Given the description of an element on the screen output the (x, y) to click on. 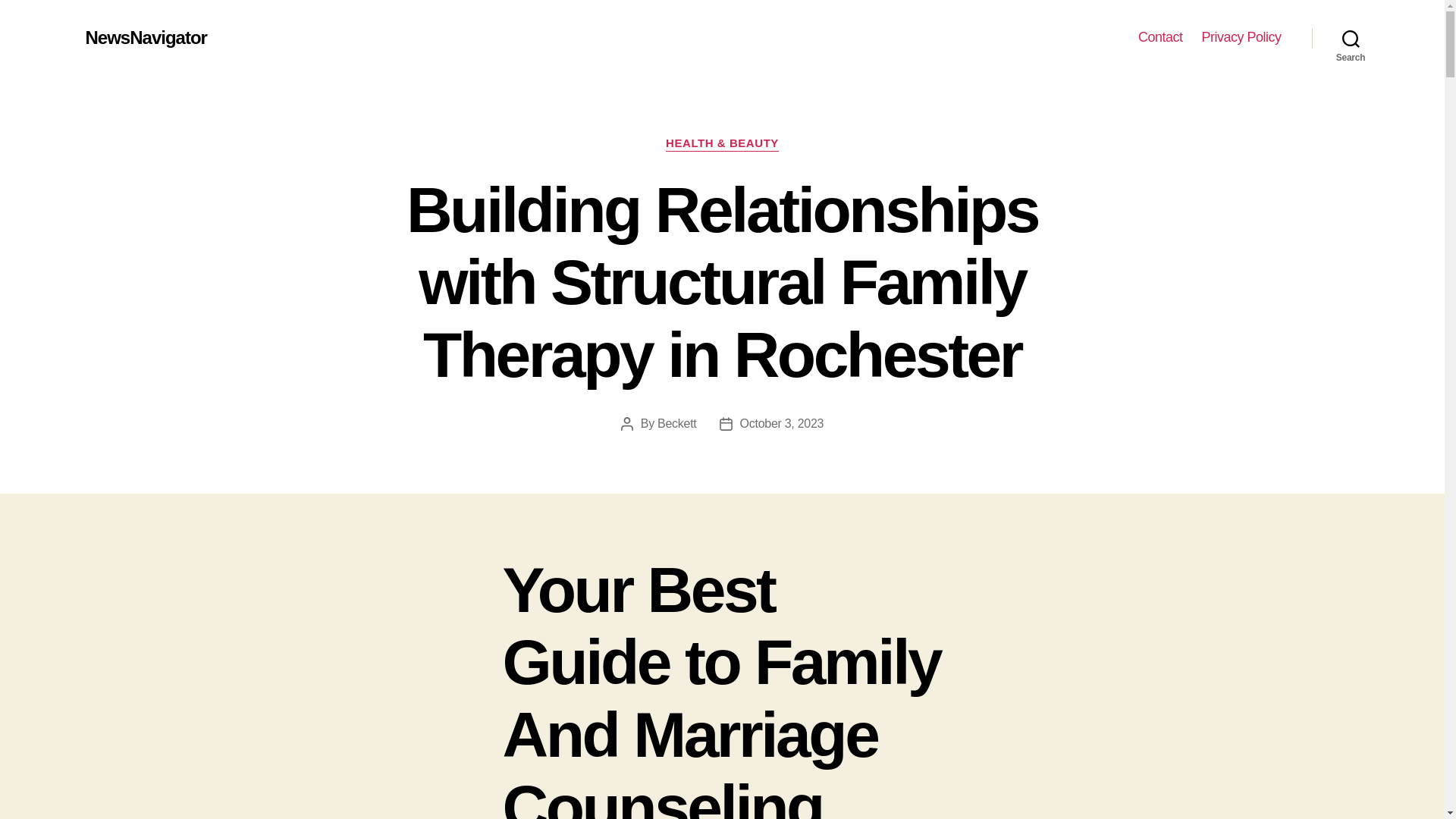
Privacy Policy (1241, 37)
Search (1350, 37)
Contact (1160, 37)
Beckett (676, 422)
NewsNavigator (145, 37)
October 3, 2023 (781, 422)
